Given the description of an element on the screen output the (x, y) to click on. 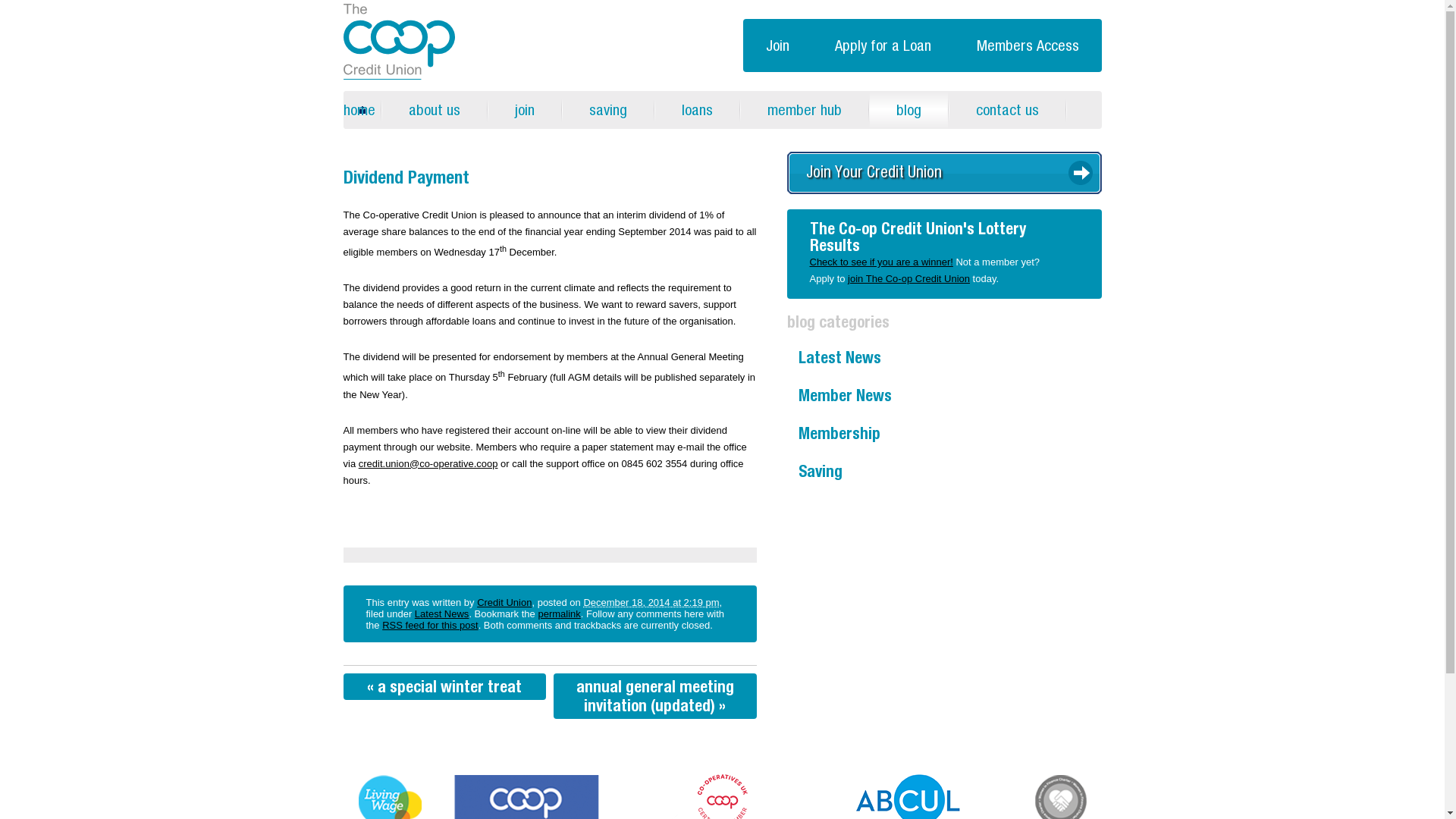
Members Access (1027, 45)
Apply for a Loan (881, 45)
about us (433, 109)
join (523, 109)
Permalink to Dividend Payment (558, 613)
Comments RSS to Dividend Payment (429, 624)
Join (777, 45)
saving (607, 109)
loans (697, 109)
home (361, 109)
